Given the description of an element on the screen output the (x, y) to click on. 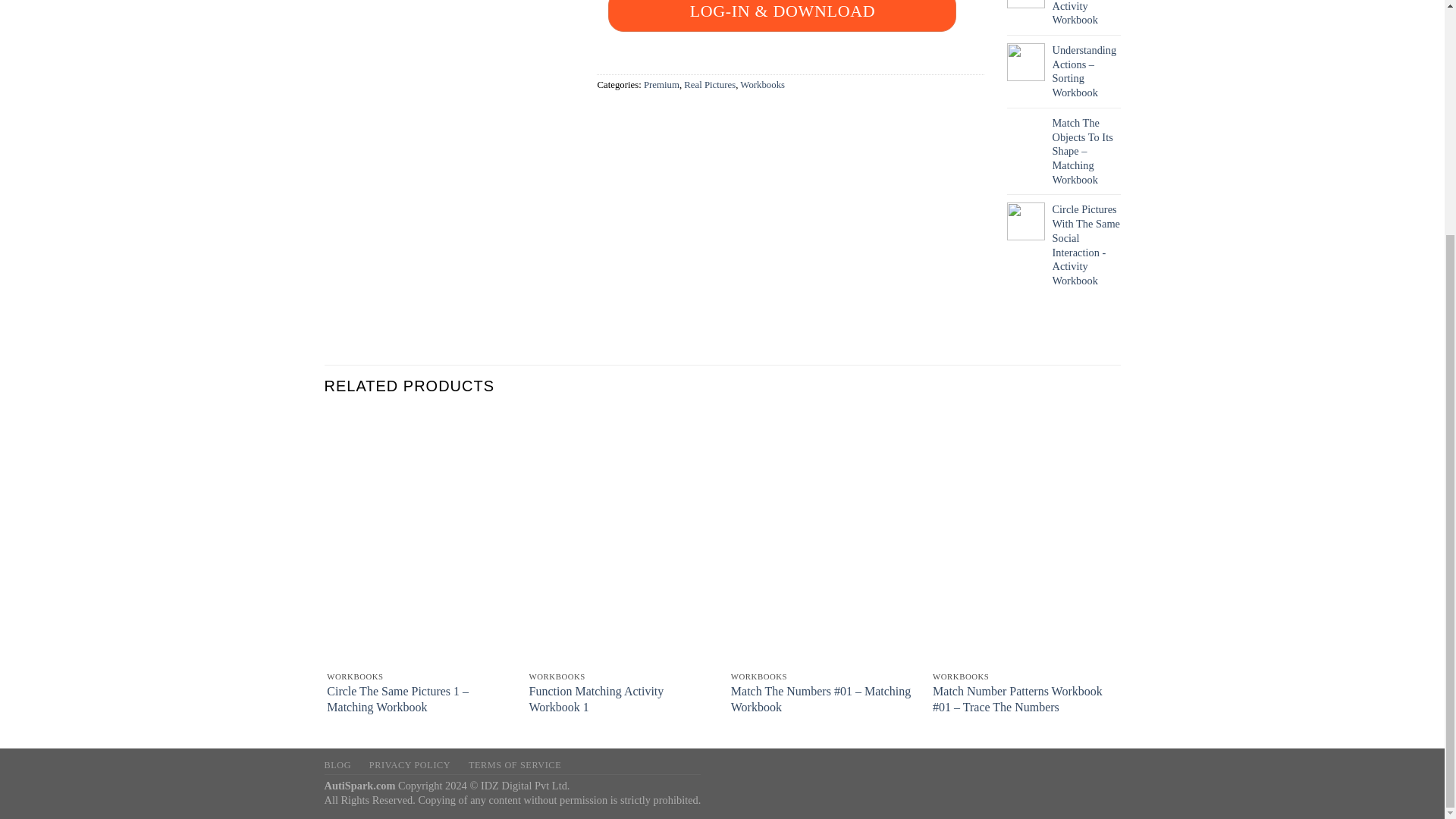
Real Pictures (709, 84)
Premium (661, 84)
Prepositions Workbook - Activity Workbook (1086, 13)
Workbooks (761, 84)
